Given the description of an element on the screen output the (x, y) to click on. 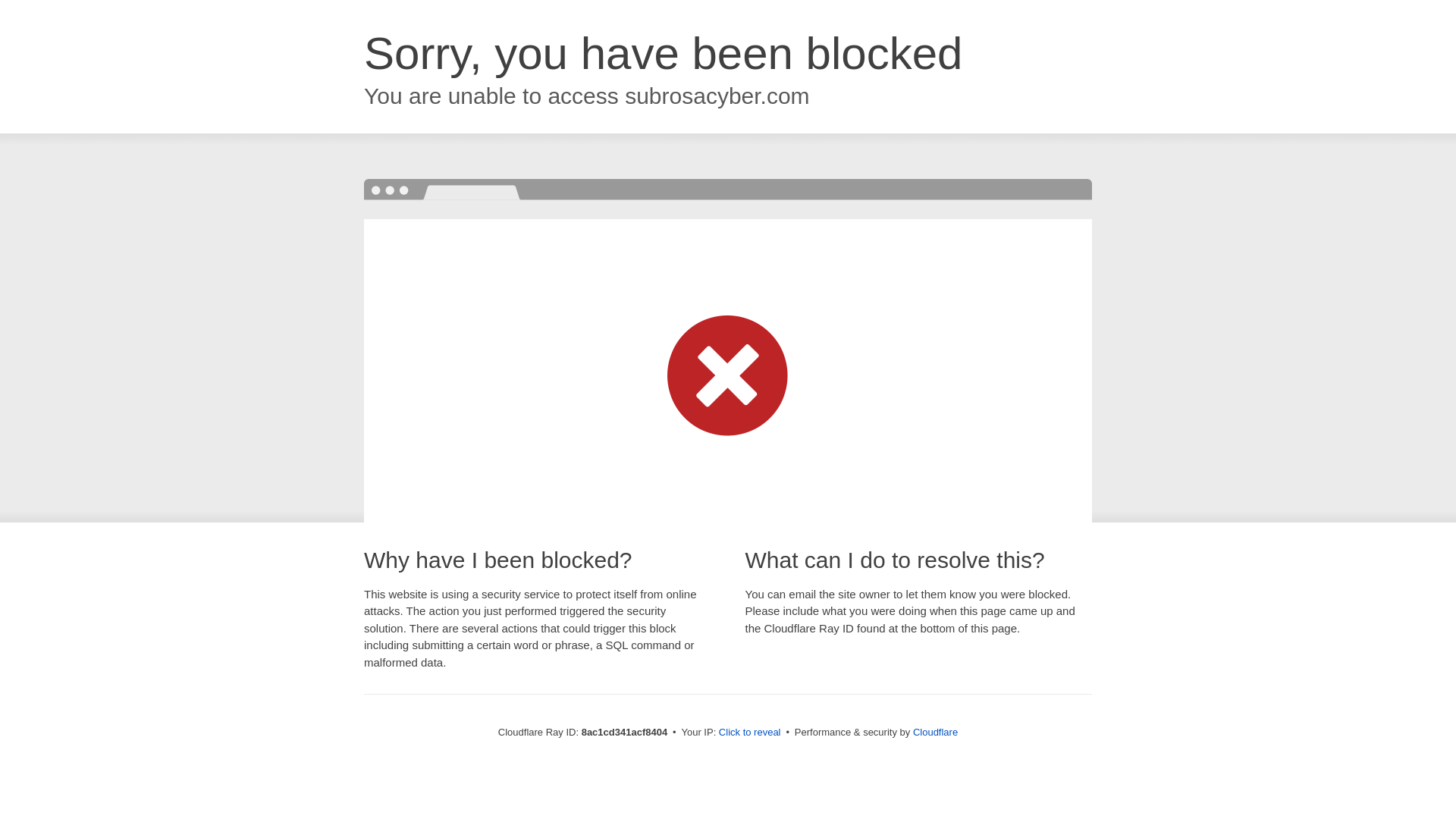
Click to reveal (749, 732)
Cloudflare (935, 731)
